Given the description of an element on the screen output the (x, y) to click on. 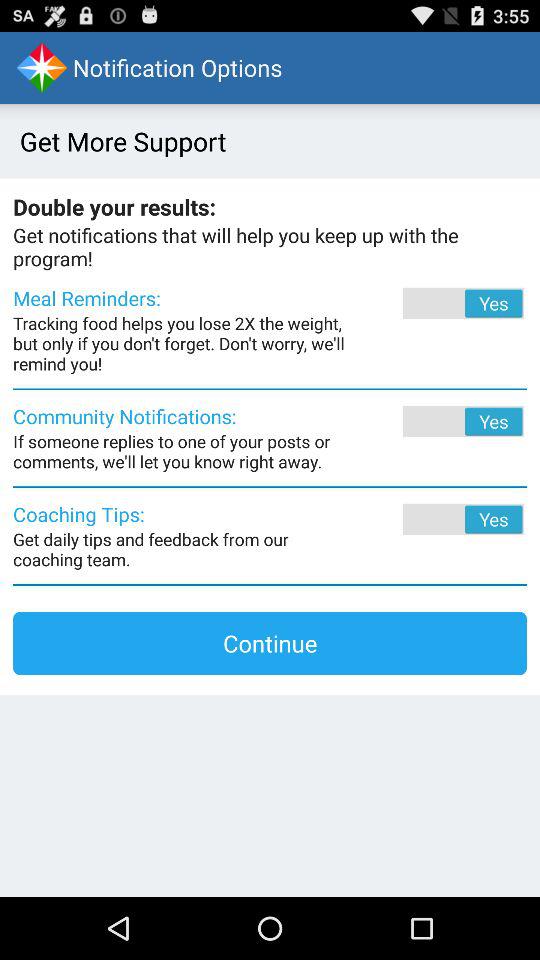
turn on the icon next to meal reminders: (436, 303)
